Given the description of an element on the screen output the (x, y) to click on. 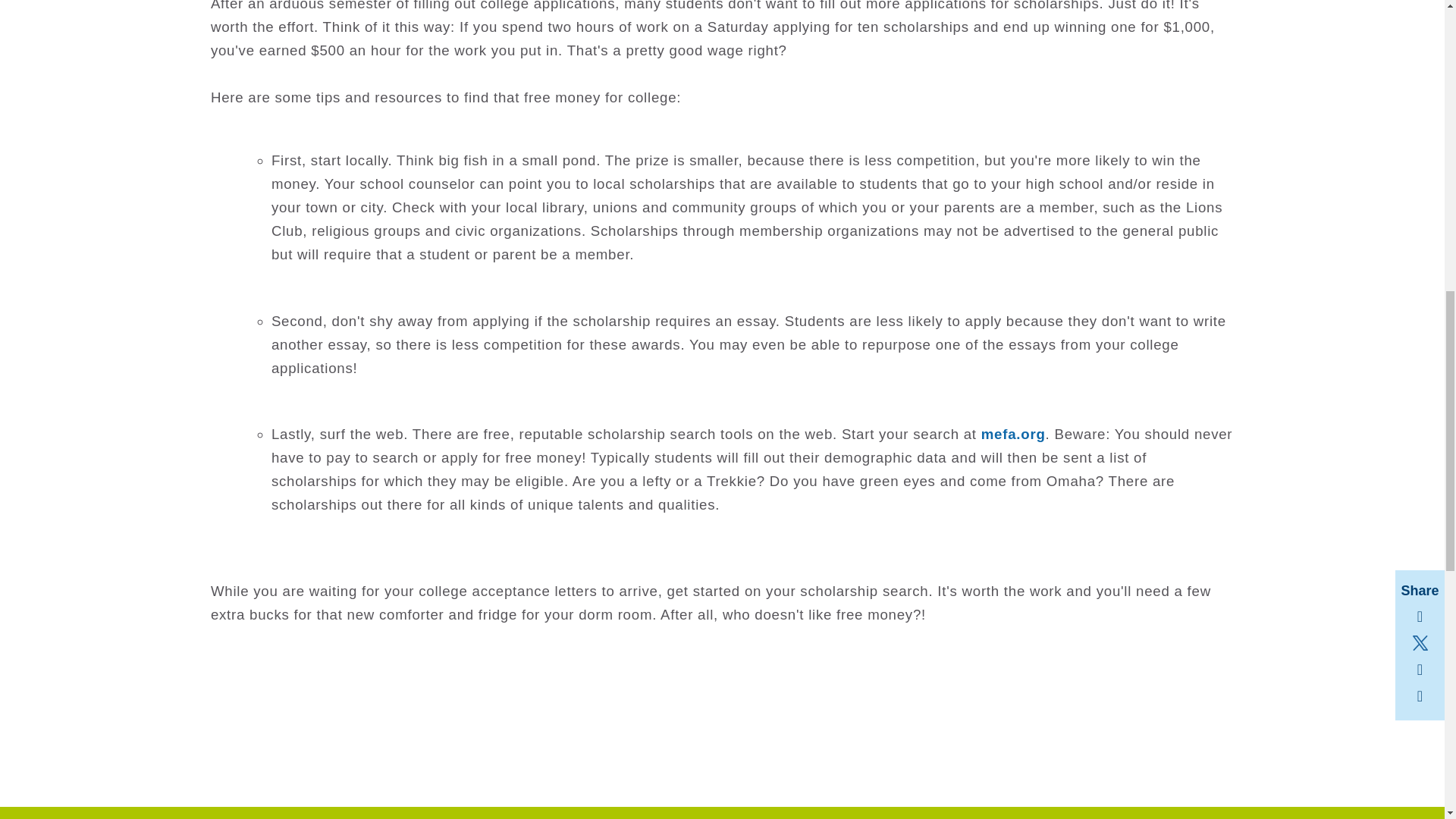
Winter Priorities for Seniors (1013, 433)
